Given the description of an element on the screen output the (x, y) to click on. 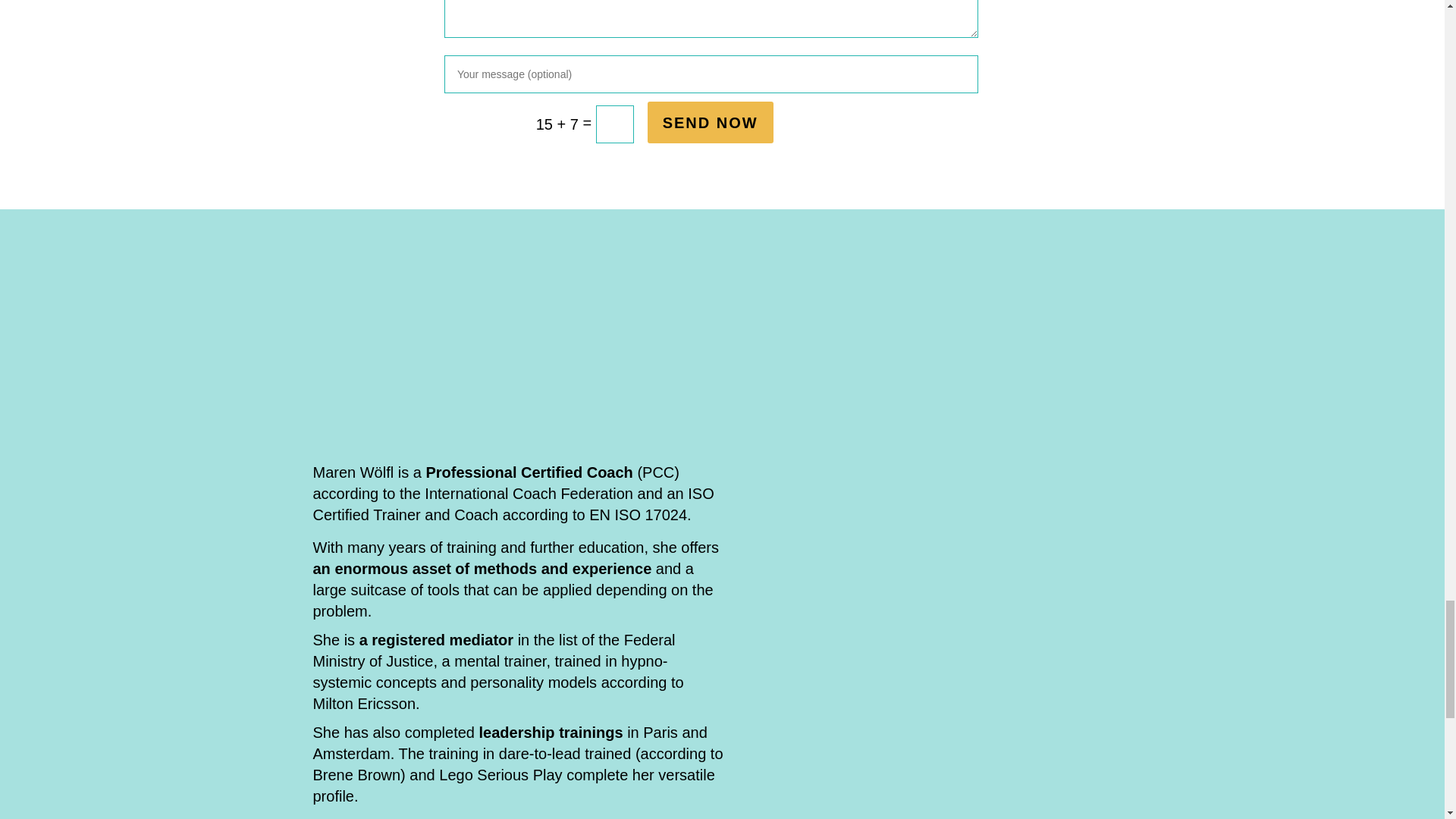
SEND NOW (710, 122)
